Given the description of an element on the screen output the (x, y) to click on. 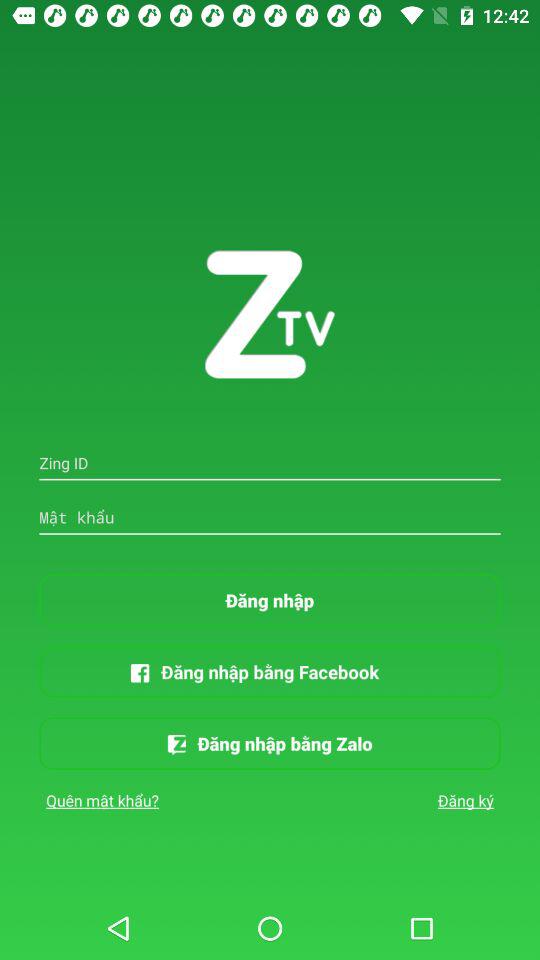
open icon at the bottom right corner (465, 800)
